Given the description of an element on the screen output the (x, y) to click on. 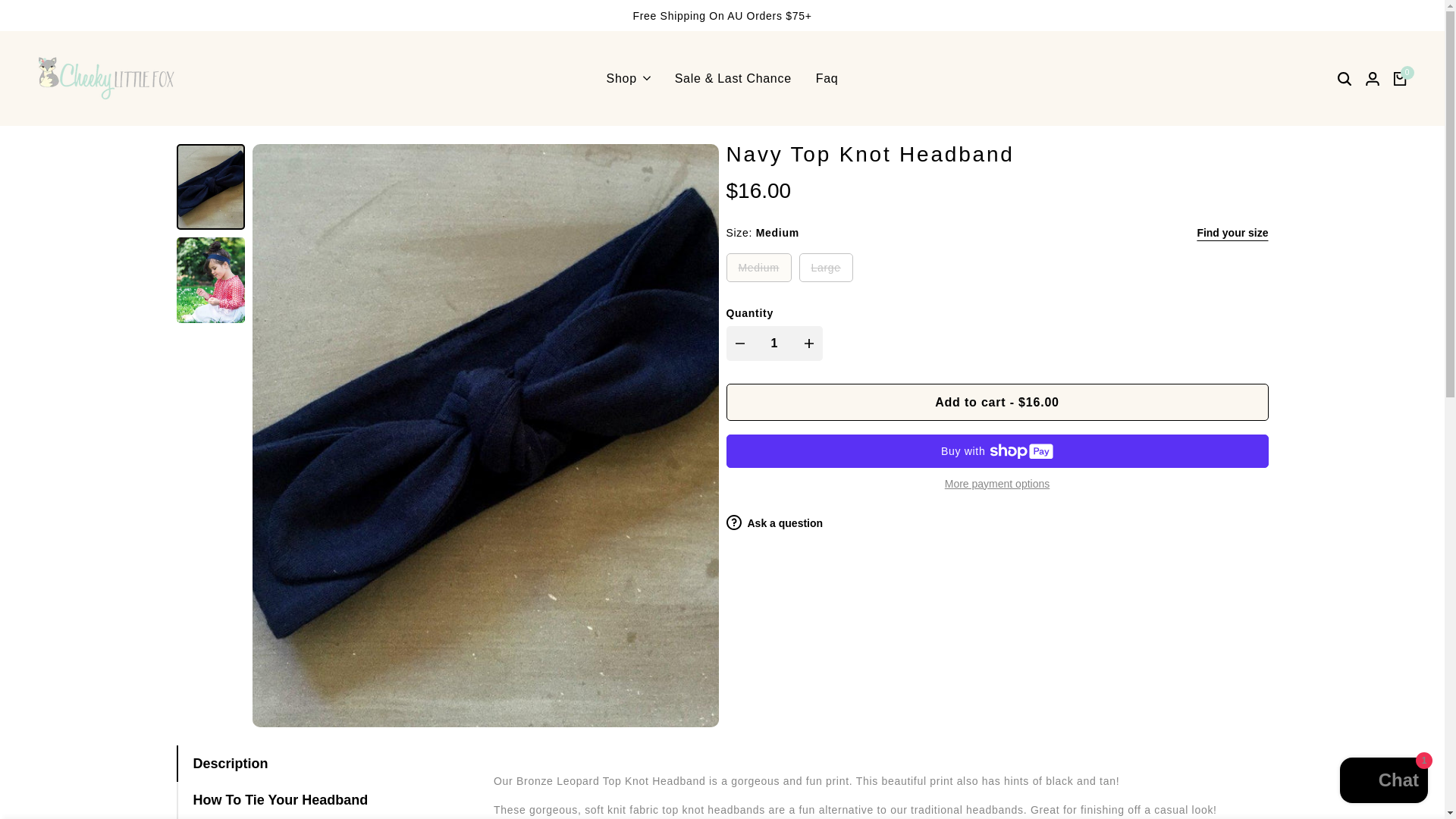
Shopify online store chat (1383, 781)
0 (1399, 78)
1 (774, 343)
Faq (826, 78)
Find your size (1232, 232)
More payment options (997, 483)
